Given the description of an element on the screen output the (x, y) to click on. 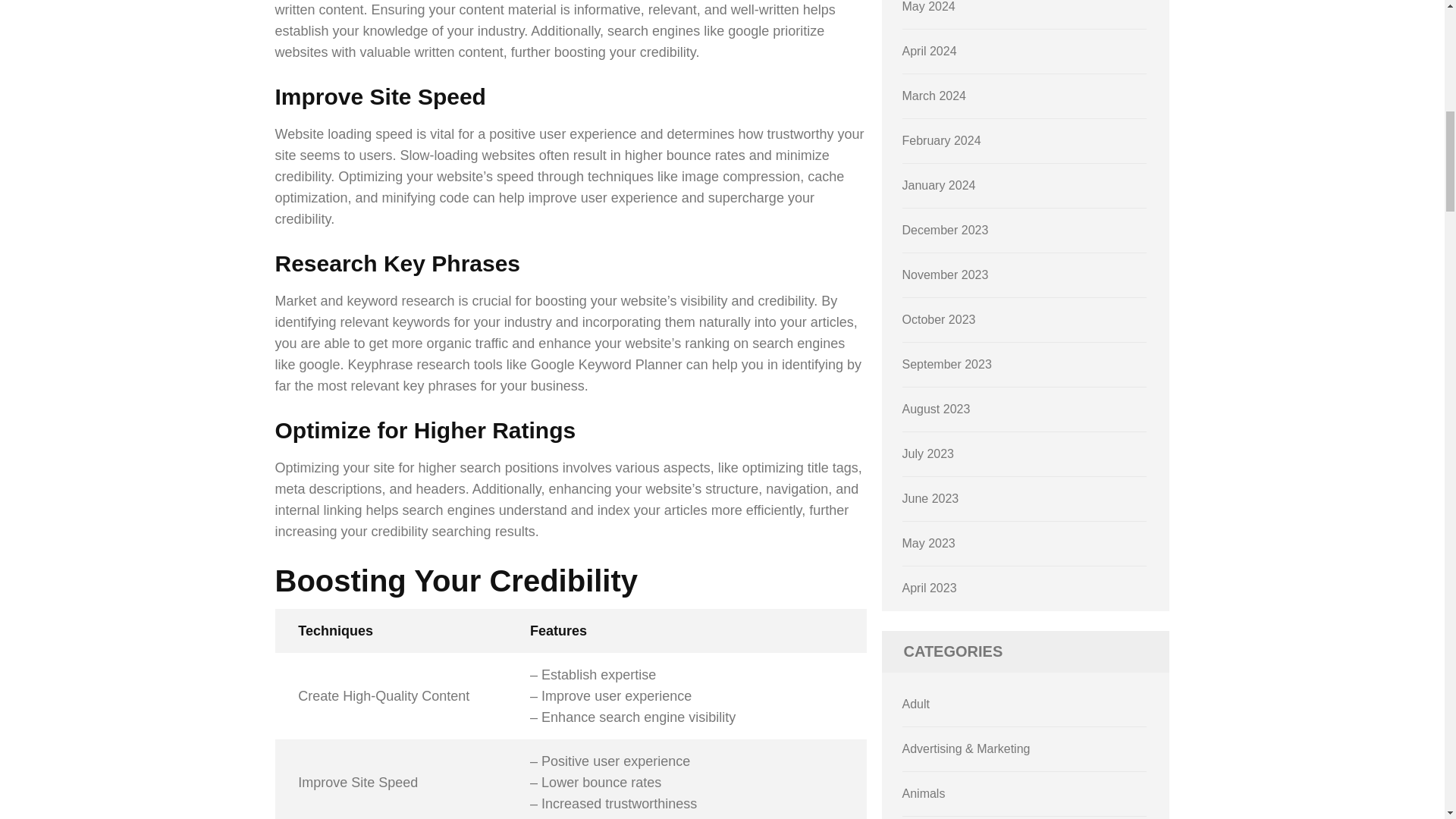
February 2024 (941, 140)
May 2023 (928, 543)
September 2023 (946, 364)
July 2023 (928, 453)
March 2024 (934, 95)
June 2023 (930, 498)
November 2023 (945, 274)
April 2024 (929, 51)
October 2023 (938, 318)
December 2023 (945, 229)
